Given the description of an element on the screen output the (x, y) to click on. 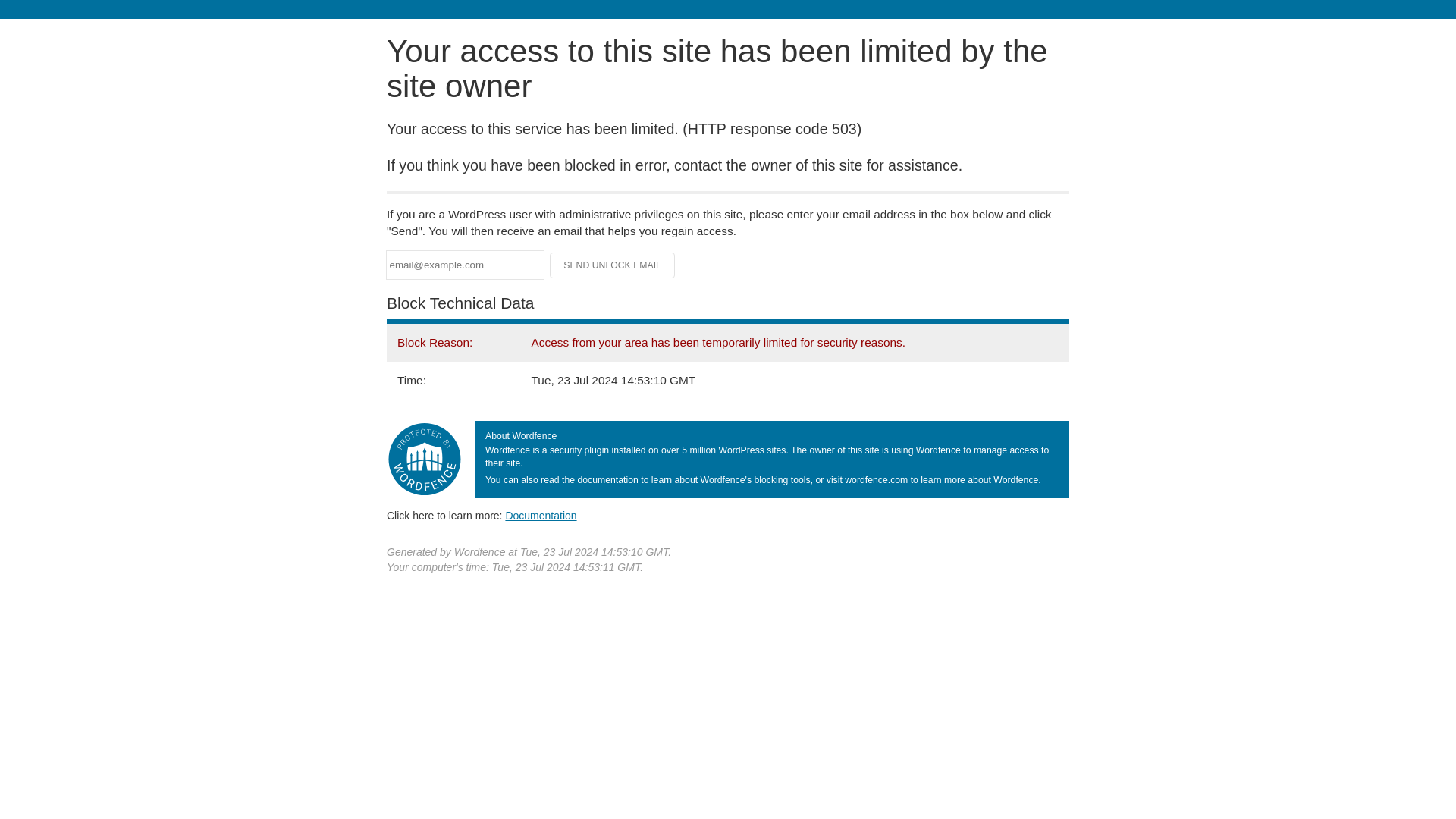
Send Unlock Email (612, 265)
Documentation (540, 515)
Send Unlock Email (612, 265)
